Given the description of an element on the screen output the (x, y) to click on. 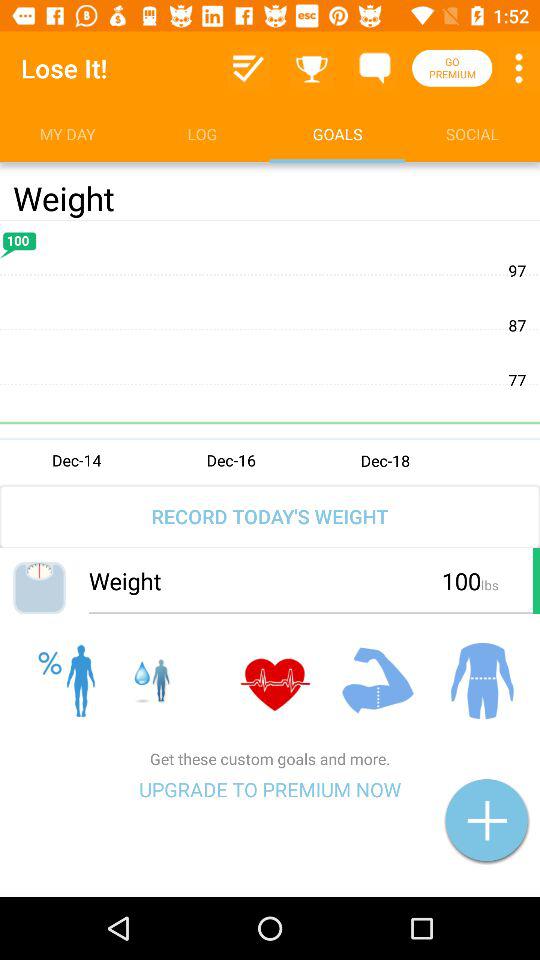
display weight total (270, 351)
